Given the description of an element on the screen output the (x, y) to click on. 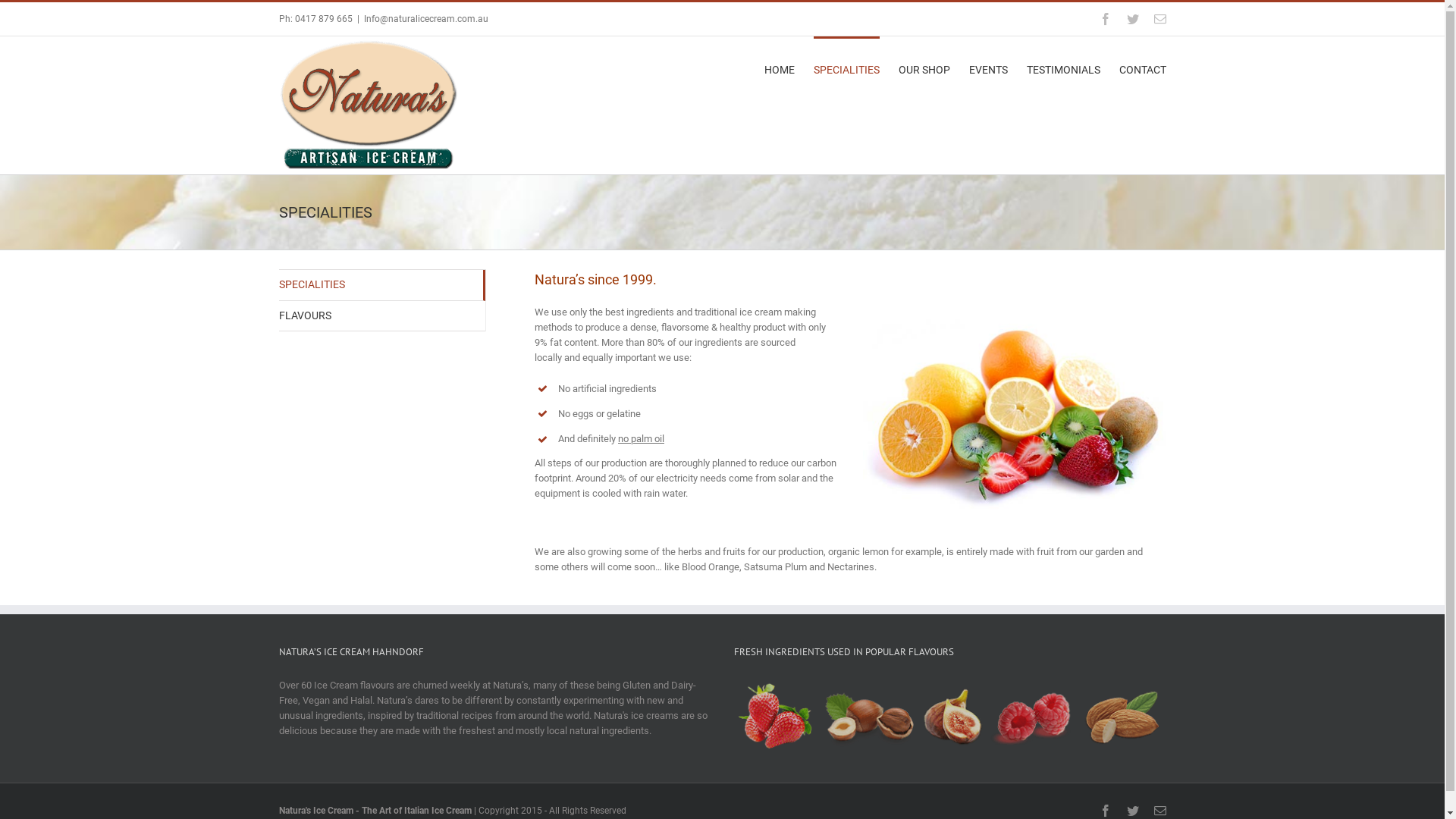
FLAVOURS Element type: text (382, 316)
CONTACT Element type: text (1142, 68)
TESTIMONIALS Element type: text (1063, 68)
HOME Element type: text (779, 68)
EVENTS Element type: text (988, 68)
SPECIALITIES Element type: text (382, 285)
SPECIALITIES Element type: text (845, 68)
OUR SHOP Element type: text (923, 68)
ua.moc.maercecilarutan@ofnI Element type: text (426, 18)
